Given the description of an element on the screen output the (x, y) to click on. 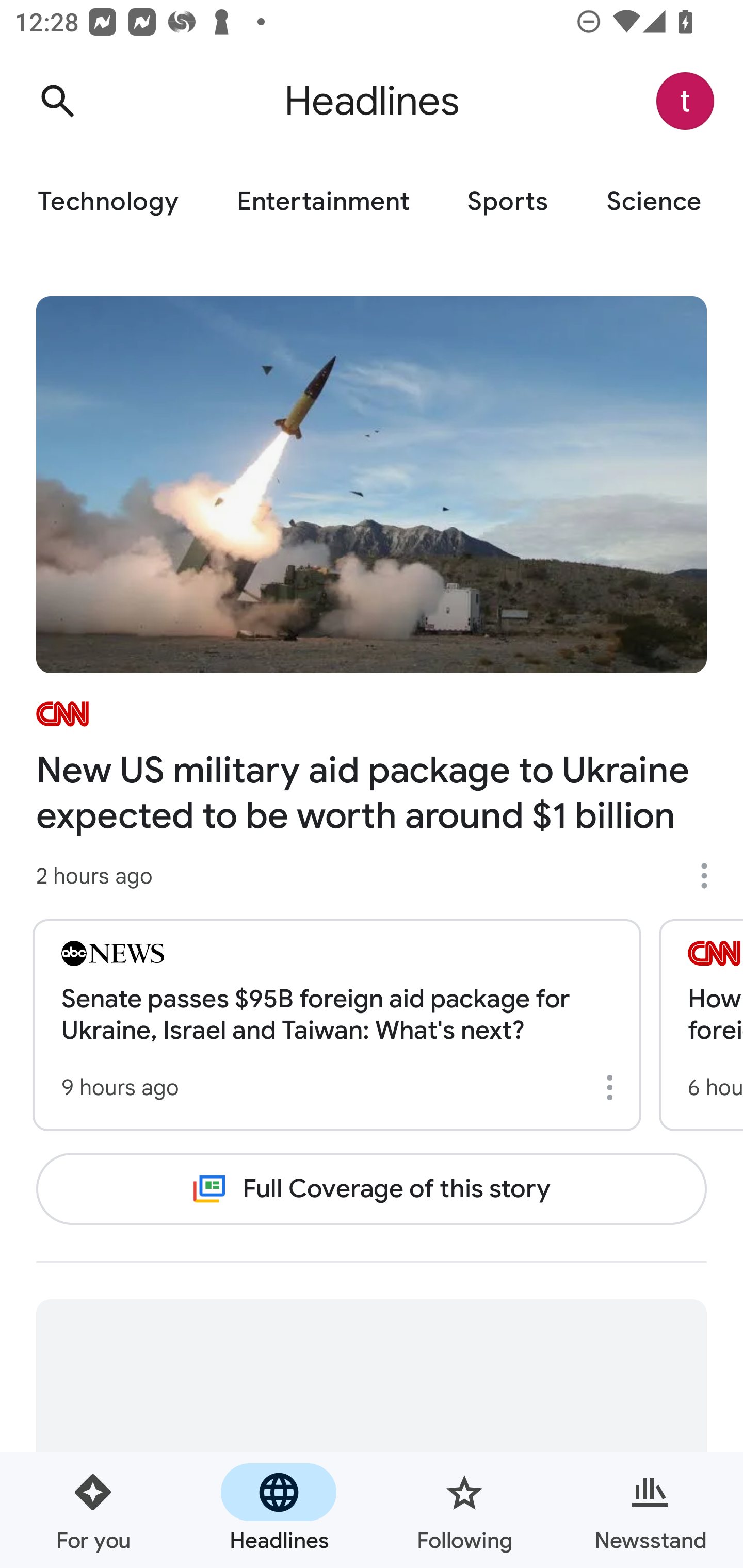
Search (57, 100)
Technology (107, 202)
Entertainment (322, 202)
Sports (507, 202)
Science (653, 202)
More options (711, 875)
More options (613, 1086)
Full Coverage of this story (371, 1188)
For you (92, 1509)
Headlines (278, 1509)
Following (464, 1509)
Newsstand (650, 1509)
